Given the description of an element on the screen output the (x, y) to click on. 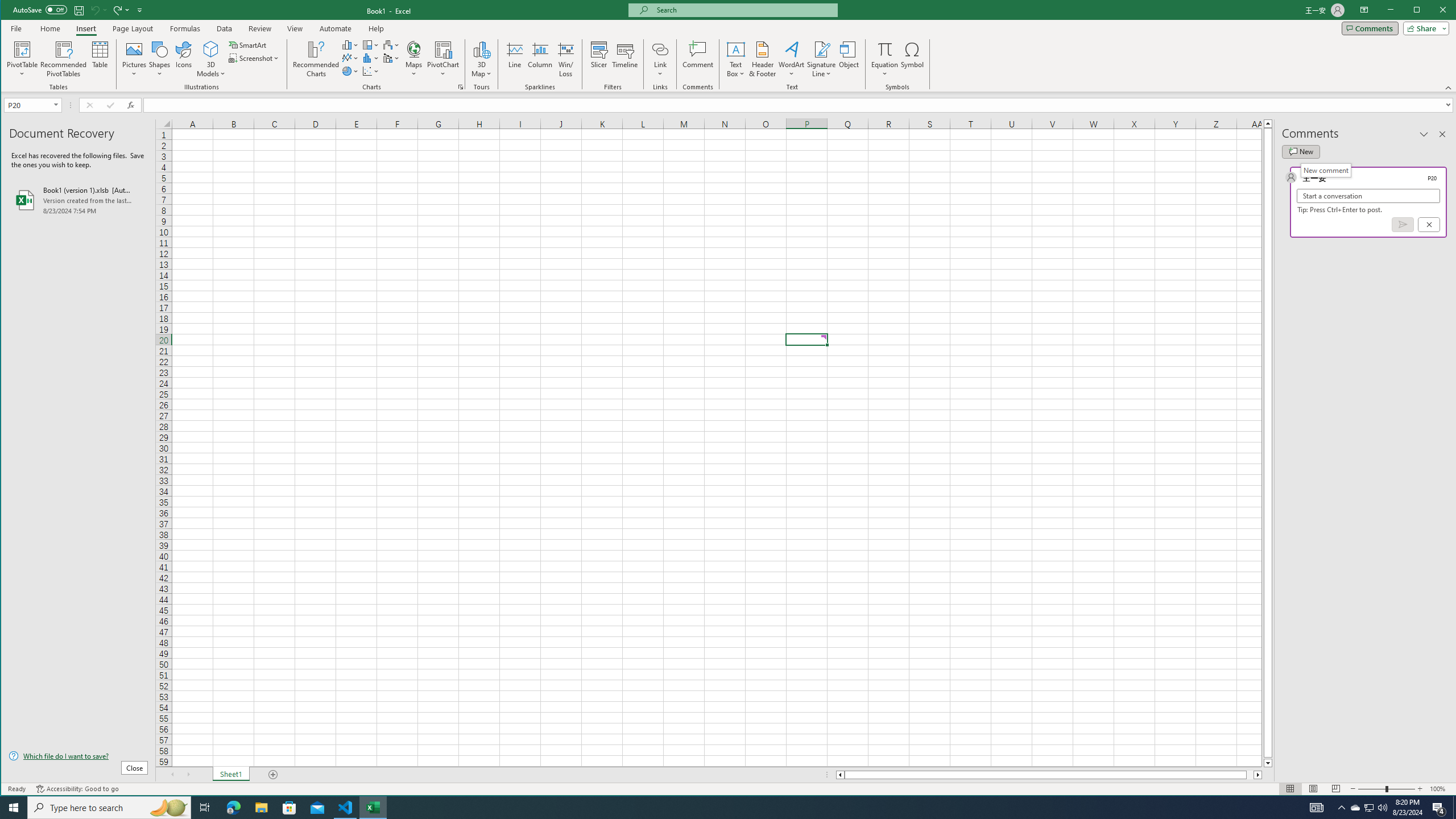
Help (376, 28)
3D Models (211, 59)
More Options (884, 69)
Link (659, 48)
3D Map (481, 59)
Insert Line or Area Chart (350, 57)
Formulas (184, 28)
Maximize (1432, 11)
Scroll Right (188, 774)
Page Layout (1312, 788)
Which file do I want to save? (78, 755)
Insert Scatter (X, Y) or Bubble Chart (371, 70)
Microsoft search (742, 10)
